Given the description of an element on the screen output the (x, y) to click on. 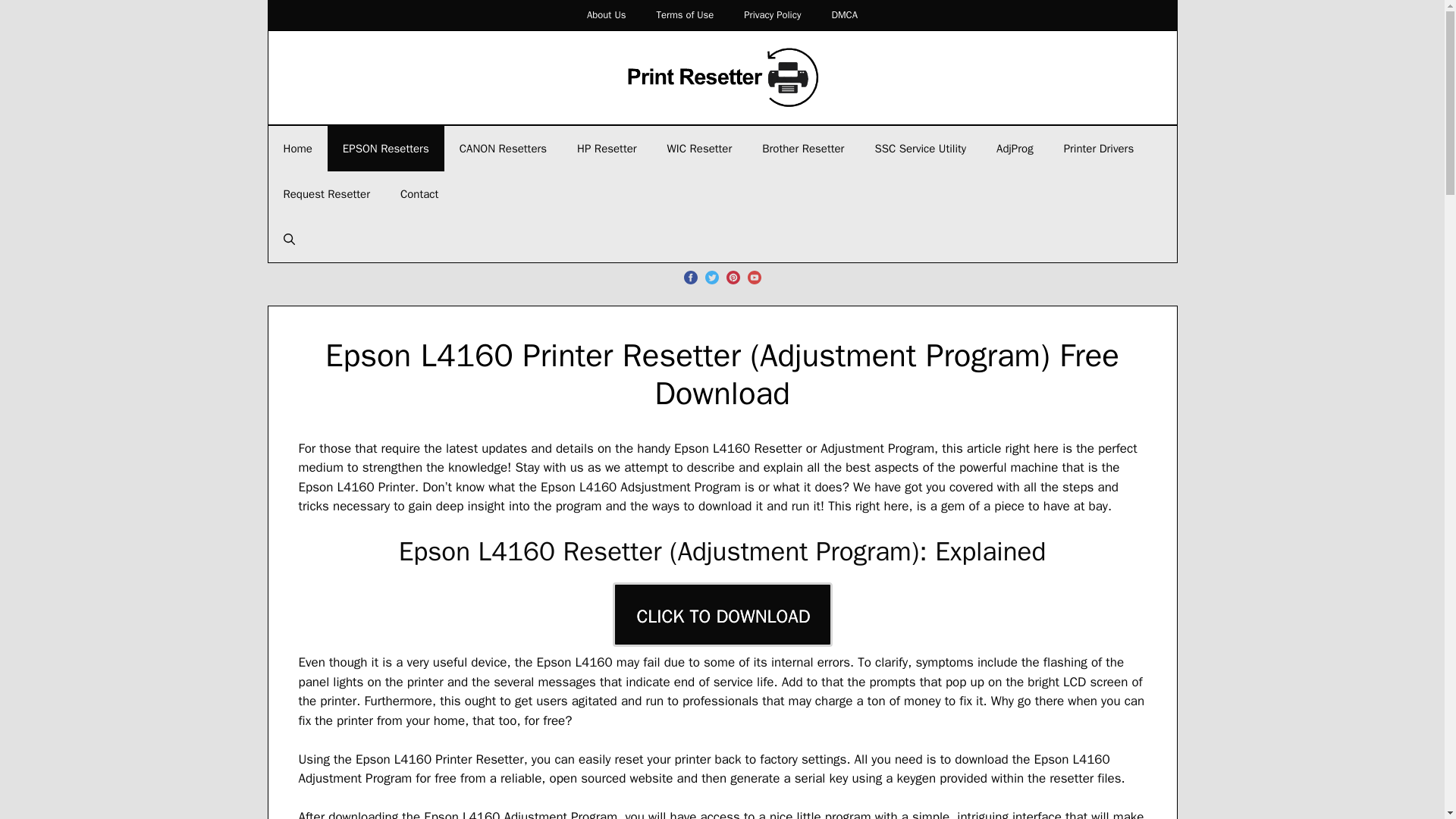
Printer Drivers (1099, 148)
Brother Resetter (802, 148)
Privacy Policy (772, 15)
HP Resetter (607, 148)
CLICK TO DOWNLOAD (722, 614)
EPSON Resetters (385, 148)
CANON Resetters (503, 148)
Contact (418, 194)
Request Resetter (326, 194)
Home (297, 148)
About Us (606, 15)
Terms of Use (684, 15)
AdjProg (1014, 148)
SSC Service Utility (920, 148)
WIC Resetter (700, 148)
